Given the description of an element on the screen output the (x, y) to click on. 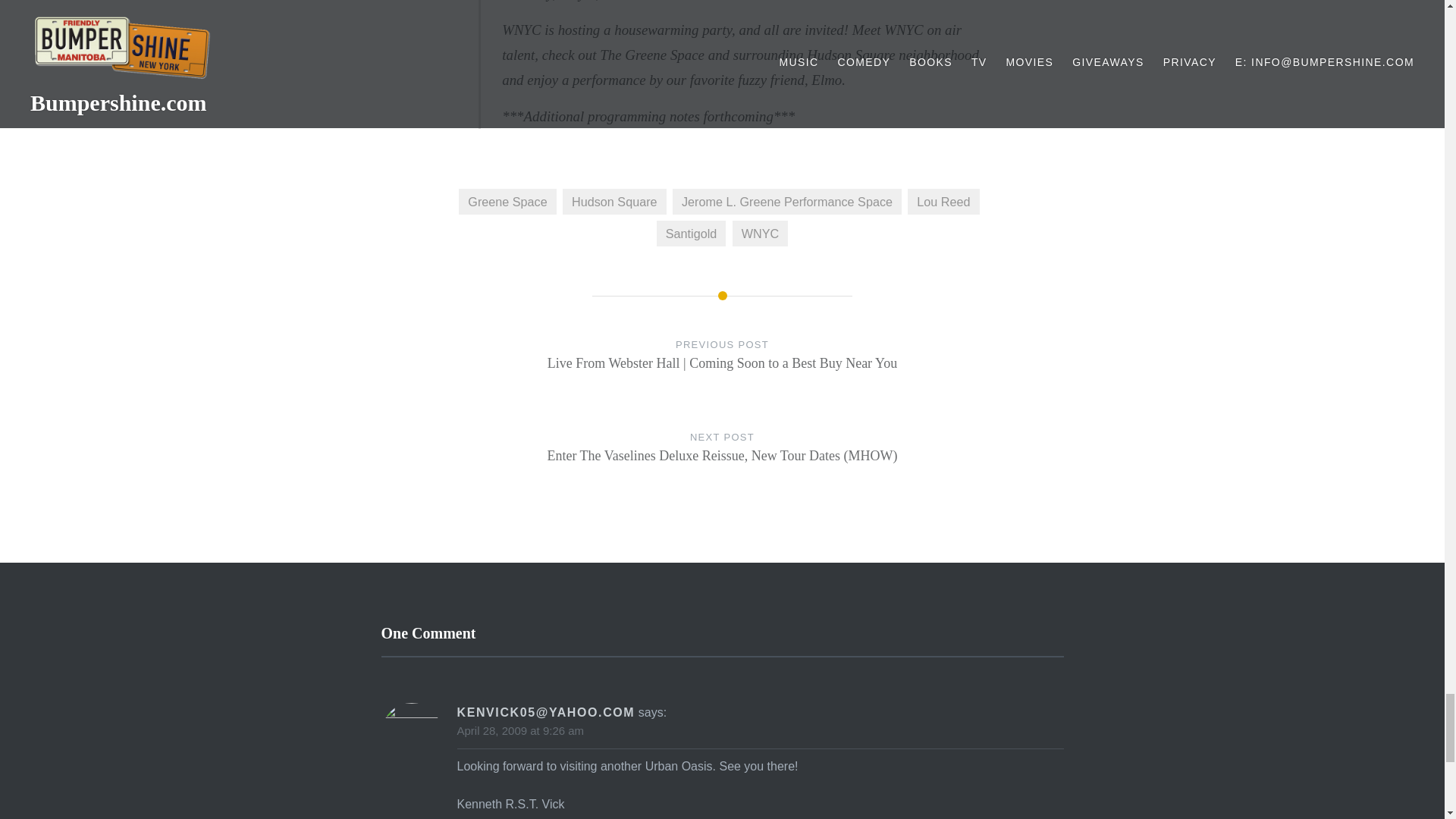
Hudson Square (614, 201)
Jerome L. Greene Performance Space (786, 201)
Santigold (691, 233)
Greene Space (507, 201)
April 28, 2009 at 9:26 am (520, 730)
WNYC (760, 233)
Lou Reed (943, 201)
